Given the description of an element on the screen output the (x, y) to click on. 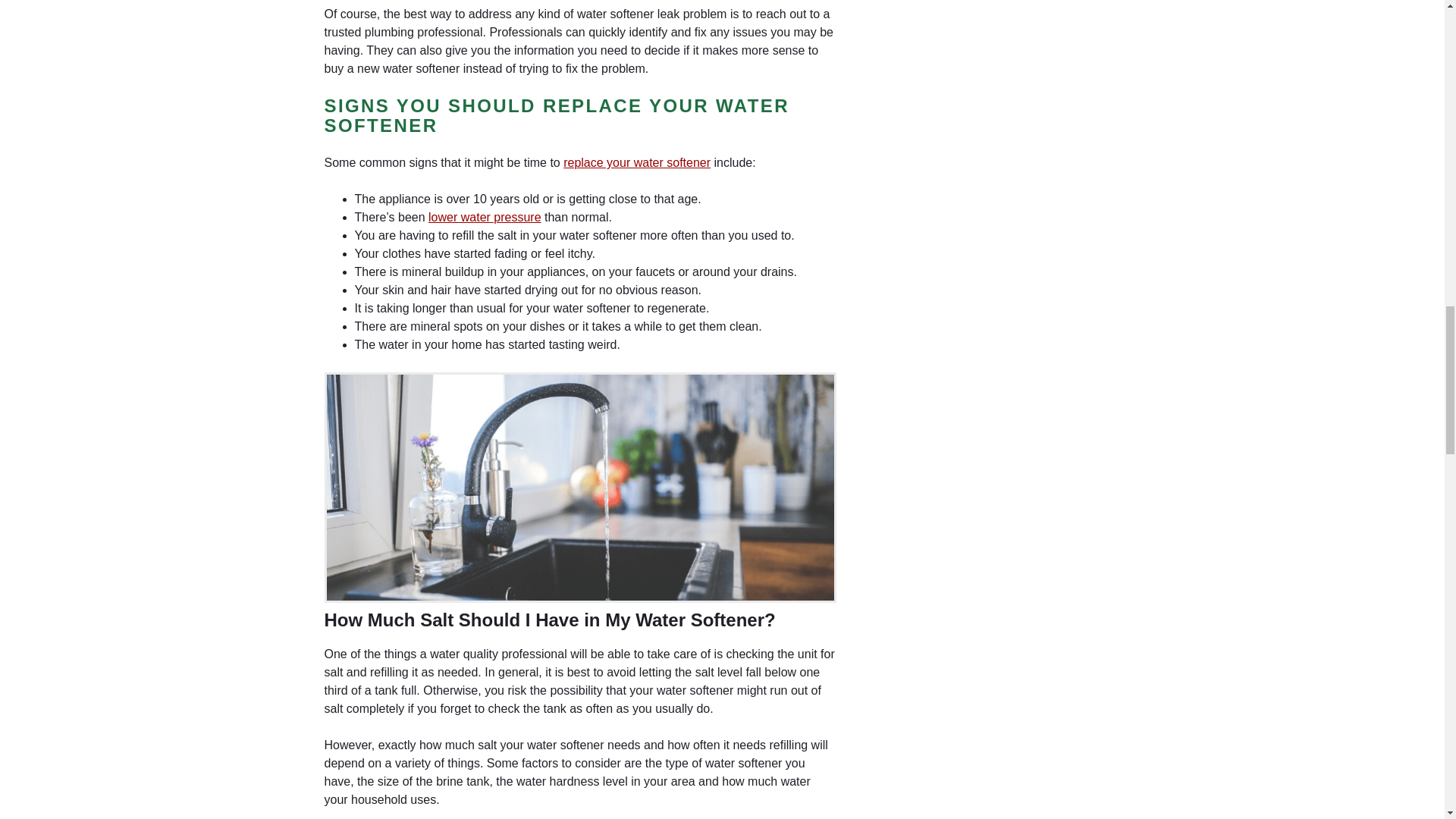
lower water pressure (484, 216)
replace your water softener (636, 162)
